Given the description of an element on the screen output the (x, y) to click on. 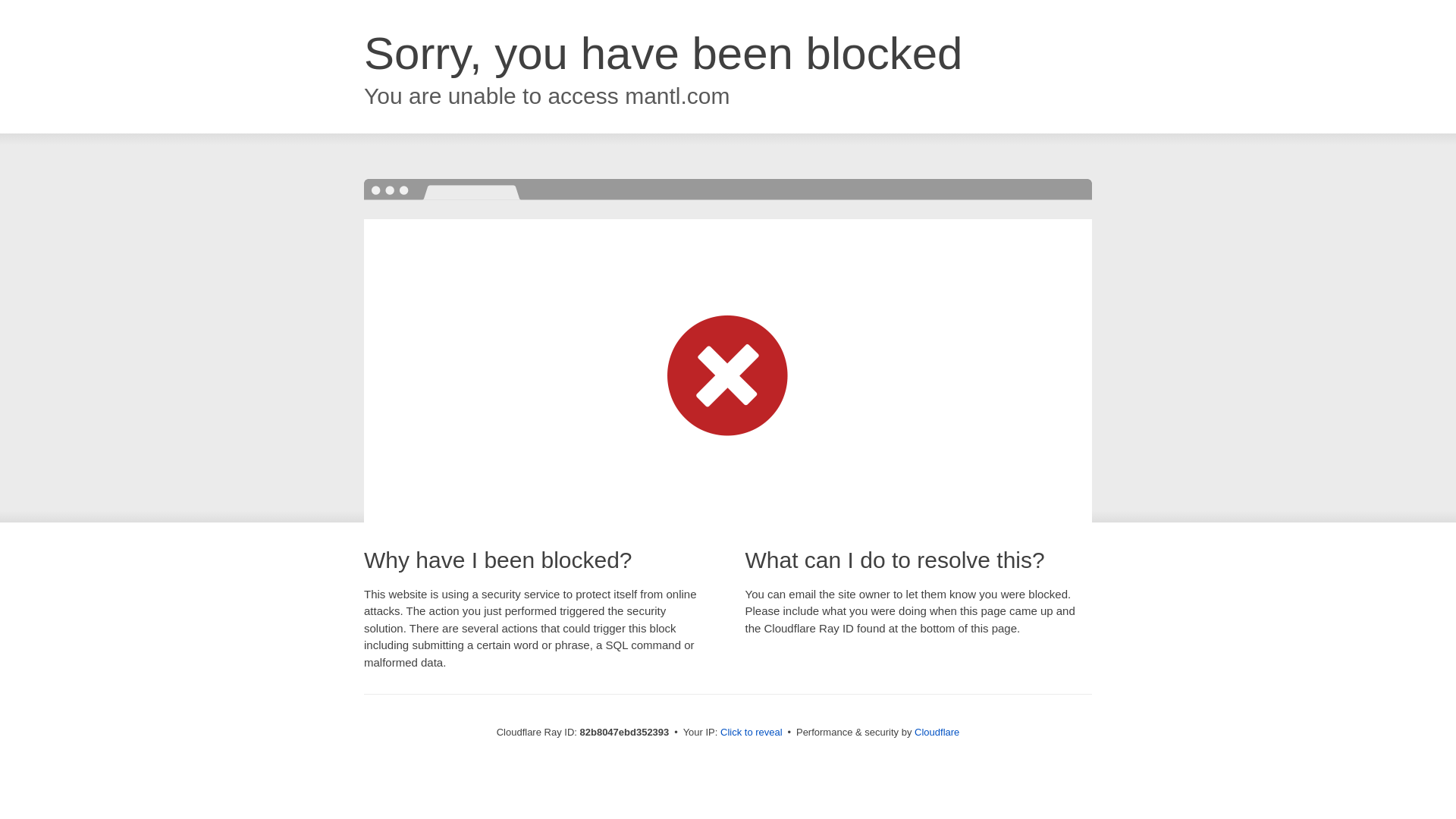
Click to reveal Element type: text (751, 732)
Cloudflare Element type: text (936, 731)
